Given the description of an element on the screen output the (x, y) to click on. 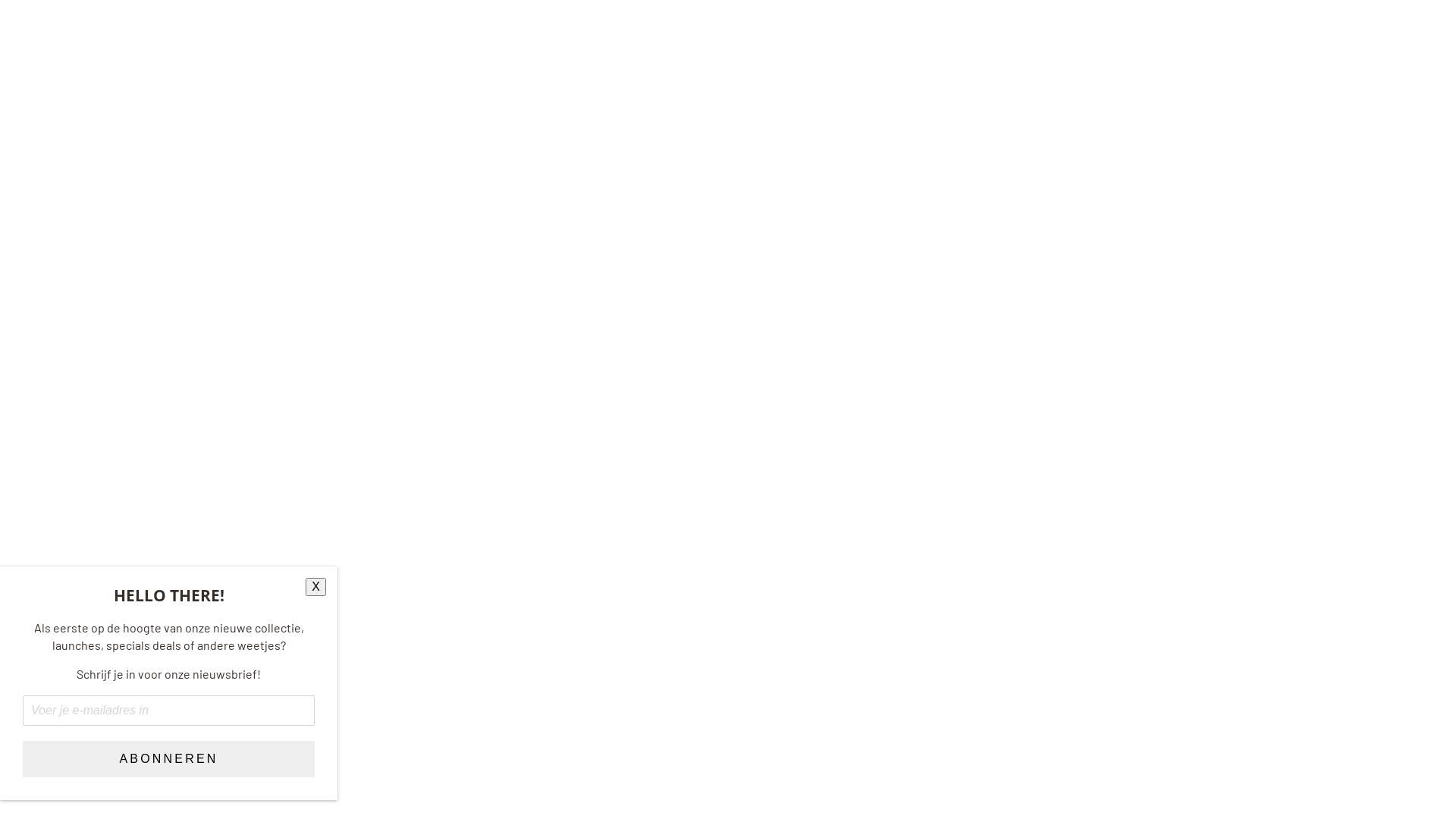
ABONNEREN Element type: text (168, 758)
X Element type: text (315, 586)
